Given the description of an element on the screen output the (x, y) to click on. 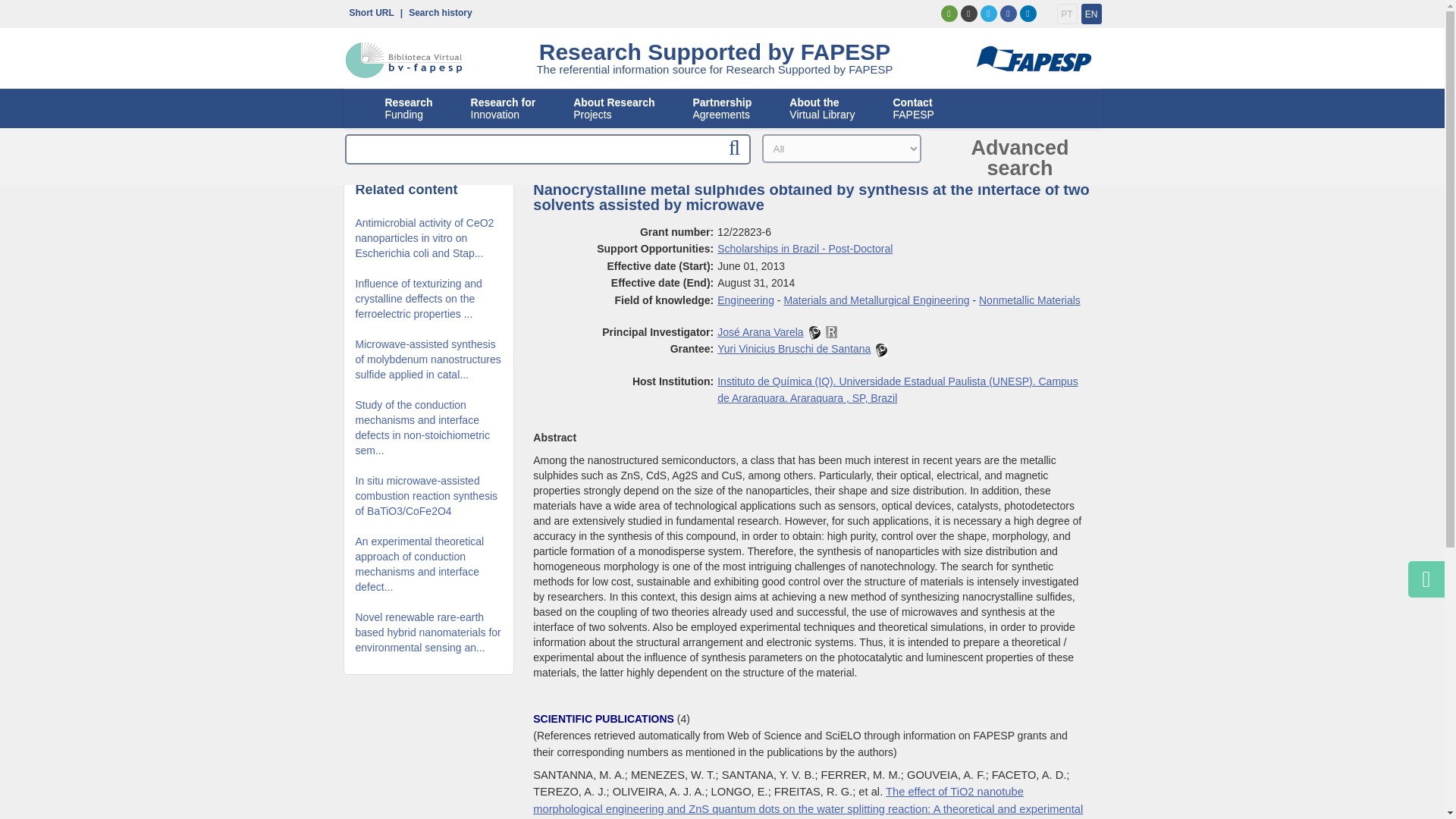
Search history (437, 10)
bv-cdi (403, 60)
EN (503, 107)
Short URL (409, 107)
FAPESP (1091, 14)
PT (367, 10)
Email (1031, 60)
URL curto (1067, 14)
